Given the description of an element on the screen output the (x, y) to click on. 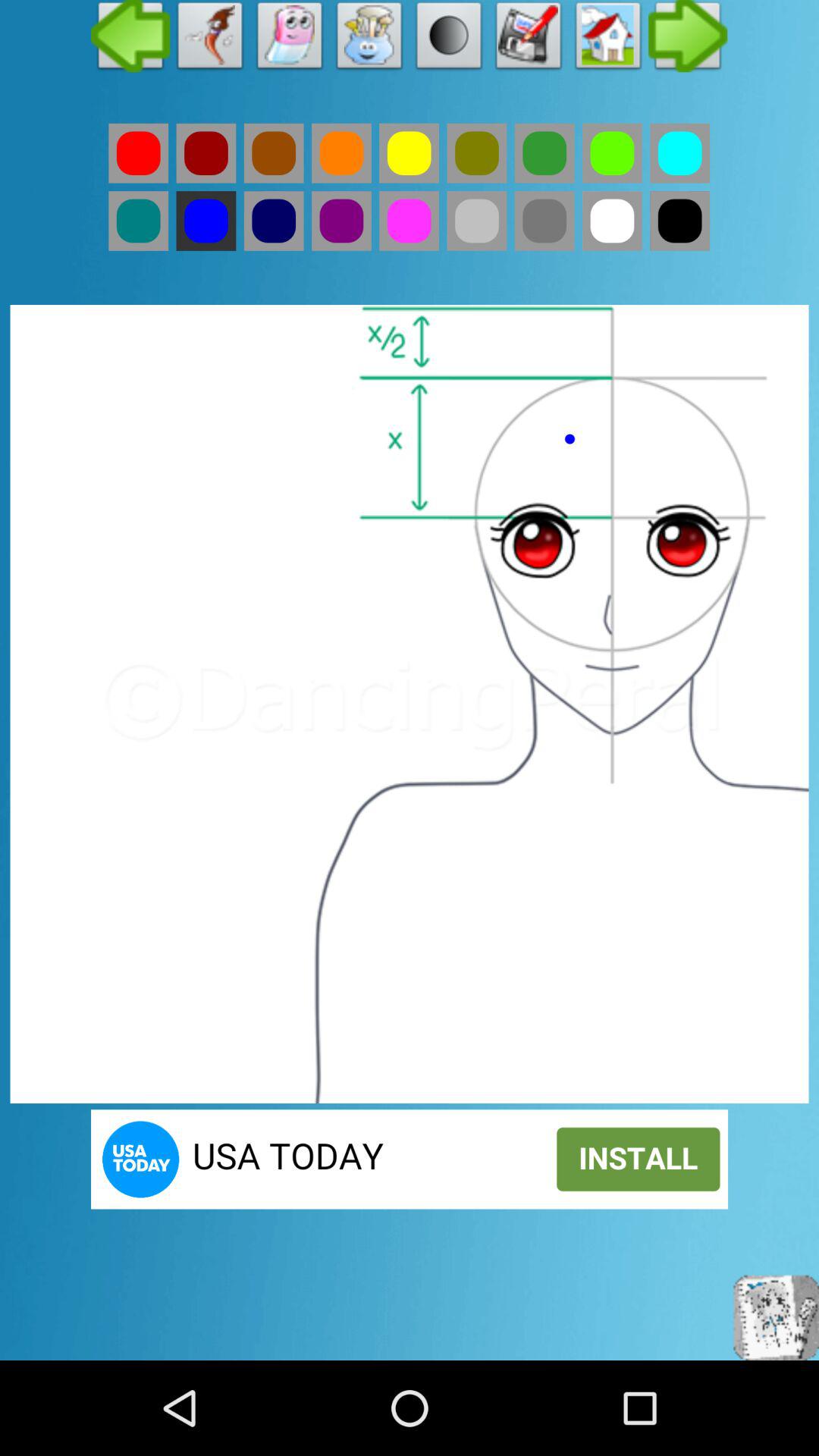
select the colour option (409, 220)
